Given the description of an element on the screen output the (x, y) to click on. 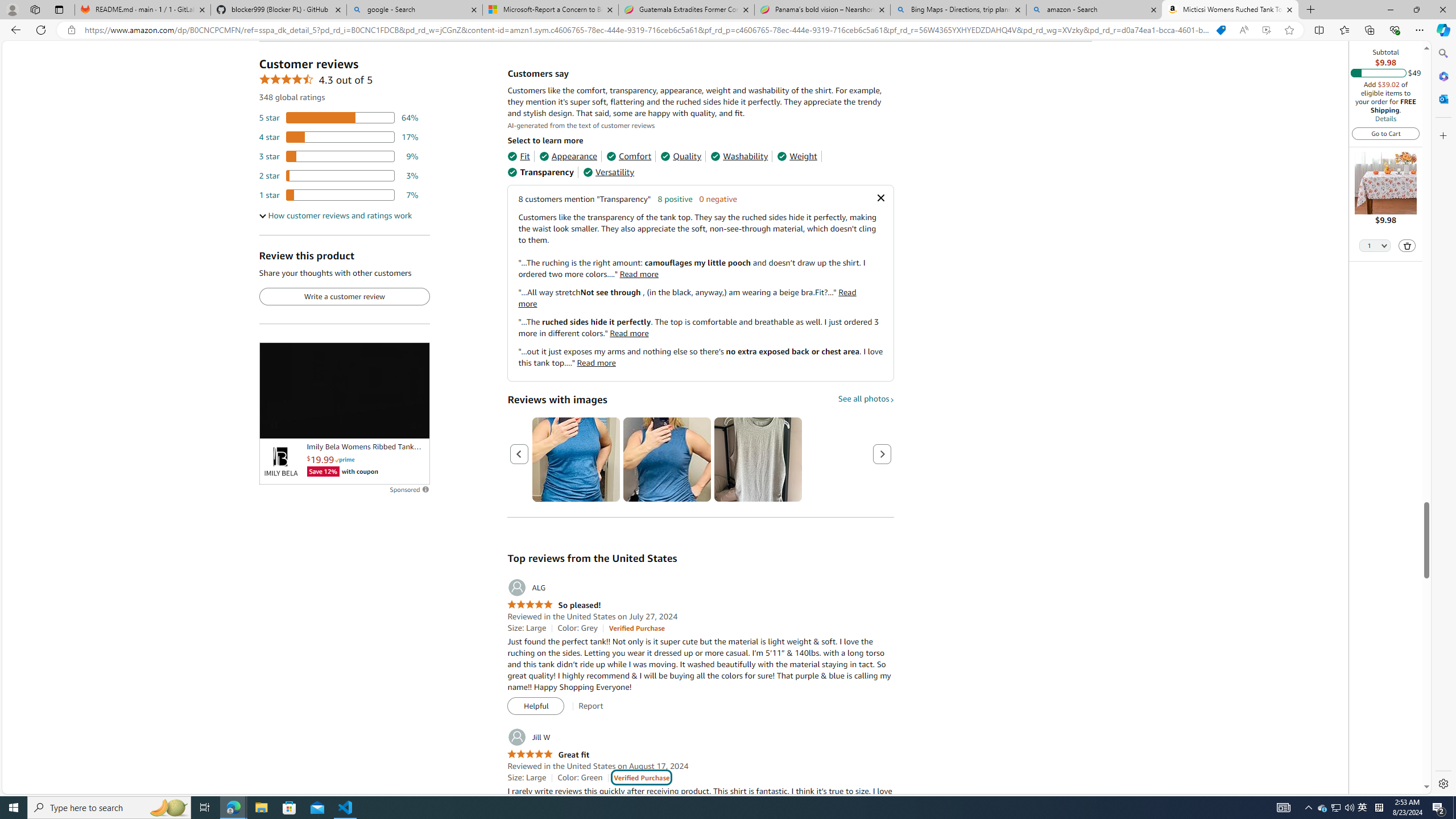
Report (590, 706)
Weight (796, 156)
7 percent of reviews have 1 stars (339, 195)
Class: a-carousel-card (757, 459)
